Given the description of an element on the screen output the (x, y) to click on. 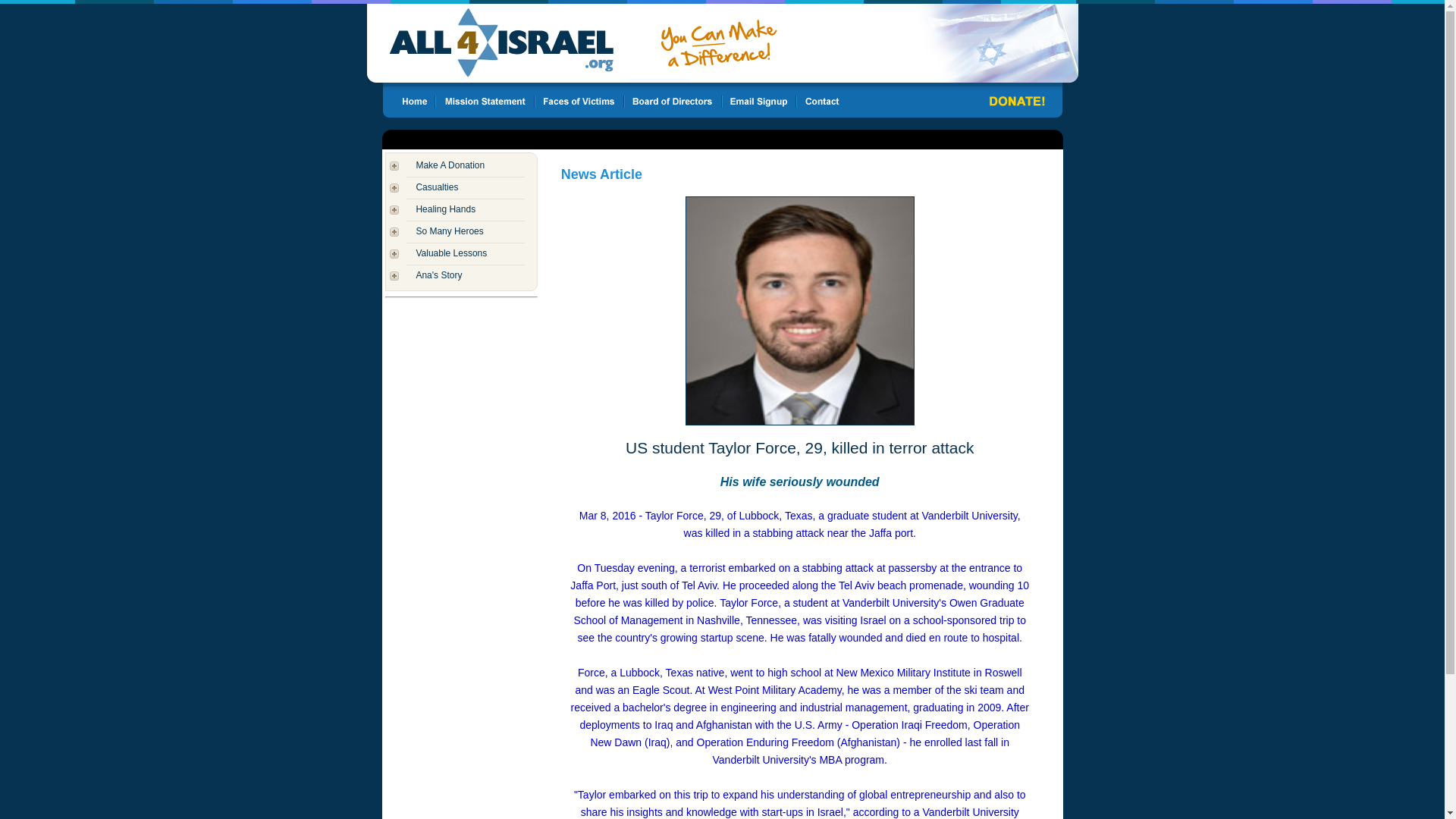
Make A Donation (449, 164)
Ana's Story (437, 275)
Casualties (436, 186)
So Many Heroes (448, 231)
Valuable Lessons (450, 253)
Healing Hands (445, 208)
